Given the description of an element on the screen output the (x, y) to click on. 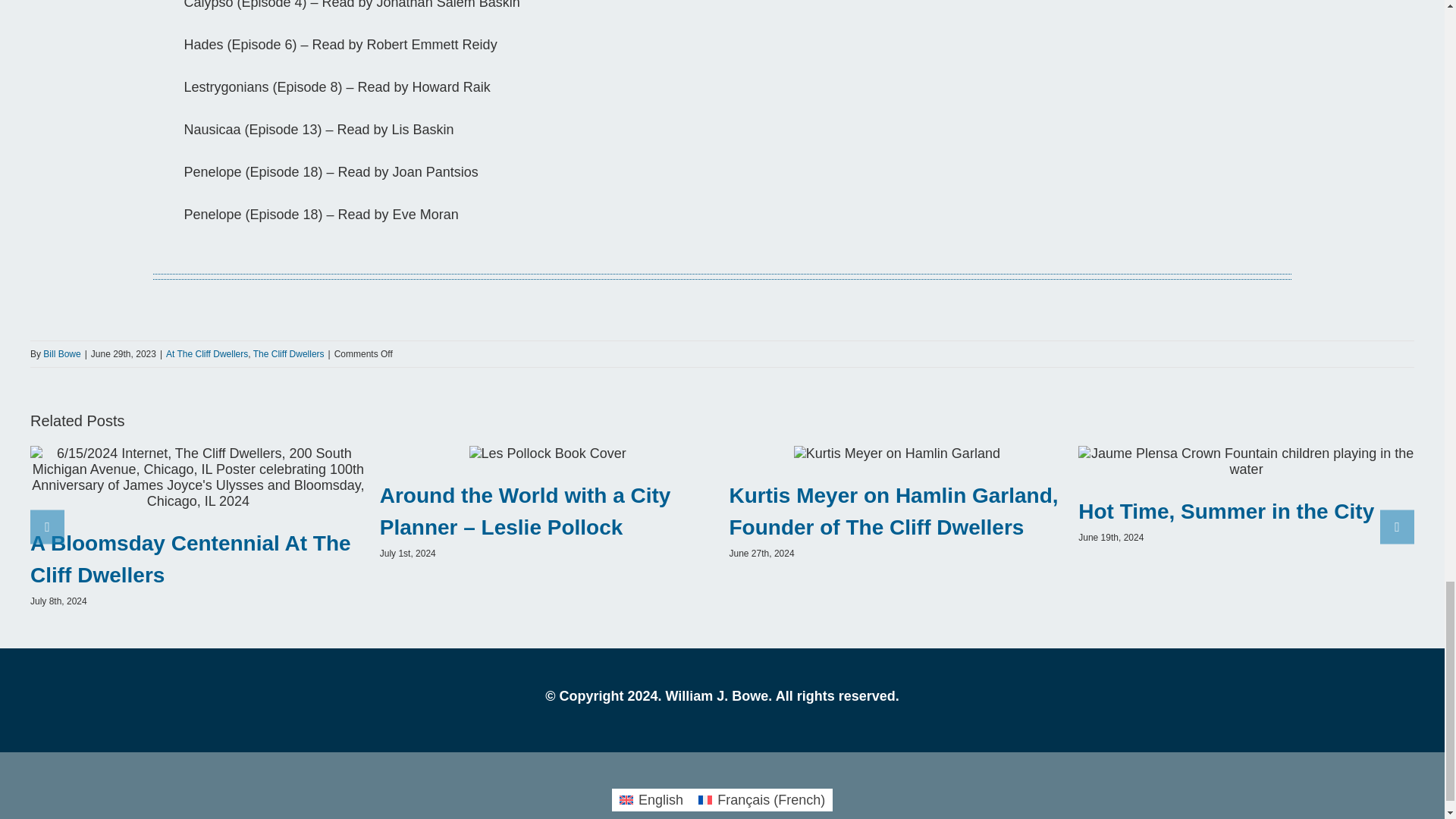
A Bloomsday Centennial At The Cliff Dwellers (190, 559)
Posts by Bill Bowe (61, 353)
Hot Time, Summer in the City (1226, 511)
At The Cliff Dwellers (206, 353)
The Cliff Dwellers (288, 353)
Bill Bowe (61, 353)
A Bloomsday Centennial At The Cliff Dwellers (190, 559)
Hot Time, Summer in the City (1226, 511)
